Given the description of an element on the screen output the (x, y) to click on. 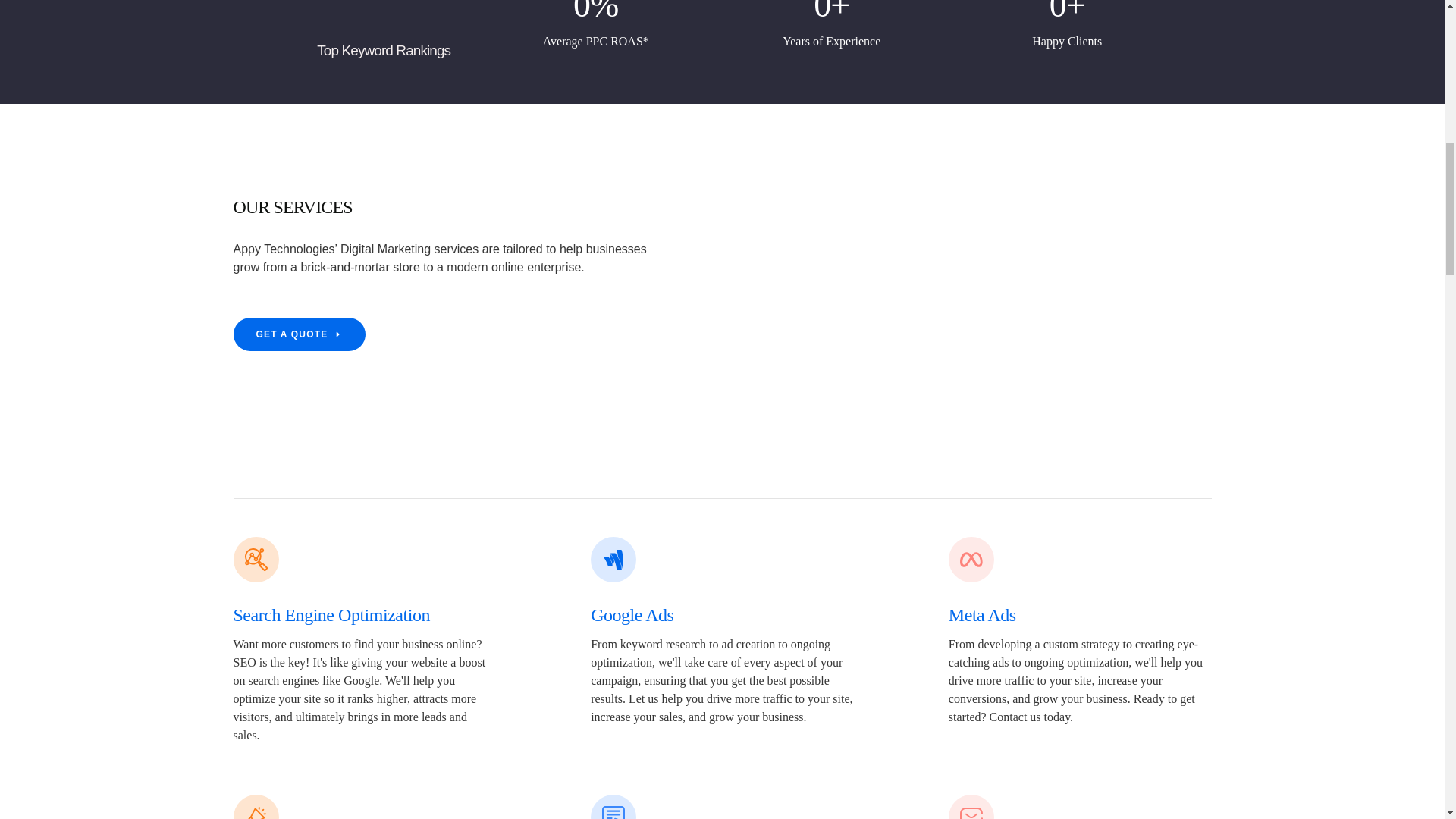
Google Ads (631, 614)
GET A QUOTE (299, 334)
Meta Ads (982, 614)
Search Engine Optimization (330, 614)
